Given the description of an element on the screen output the (x, y) to click on. 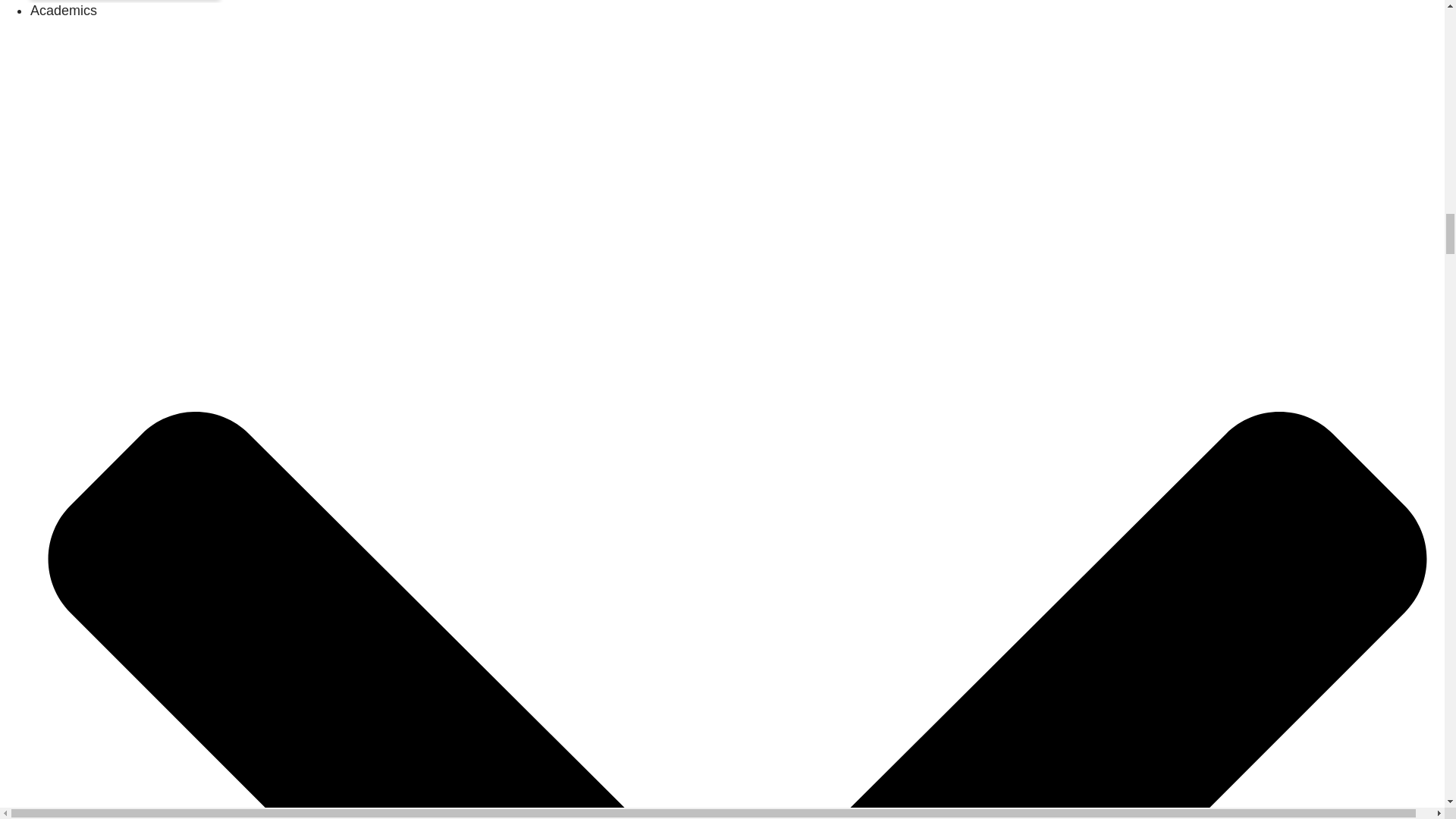
Academics (63, 10)
